Given the description of an element on the screen output the (x, y) to click on. 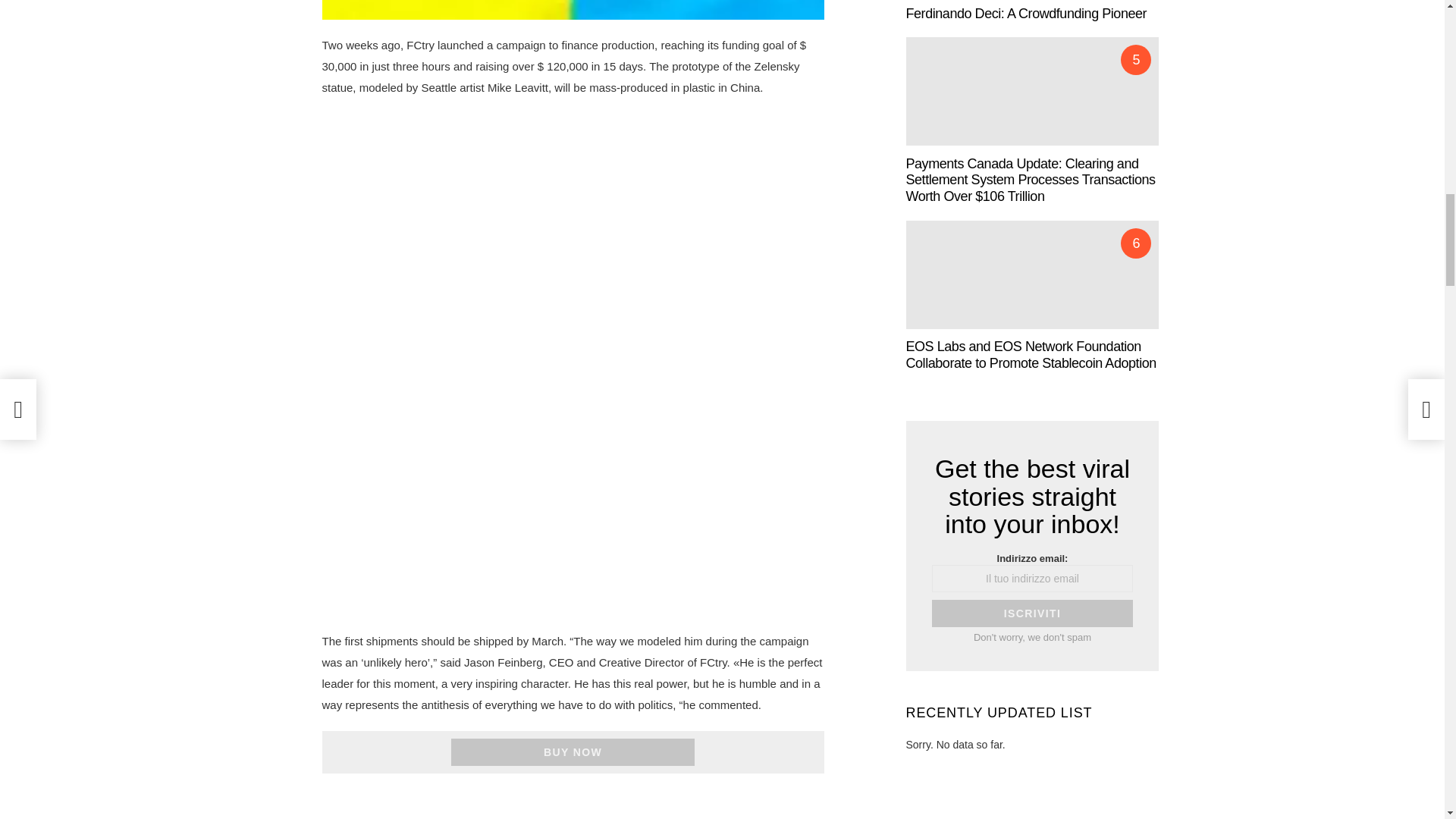
Iscriviti (1031, 613)
BUY NOW (572, 751)
